Given the description of an element on the screen output the (x, y) to click on. 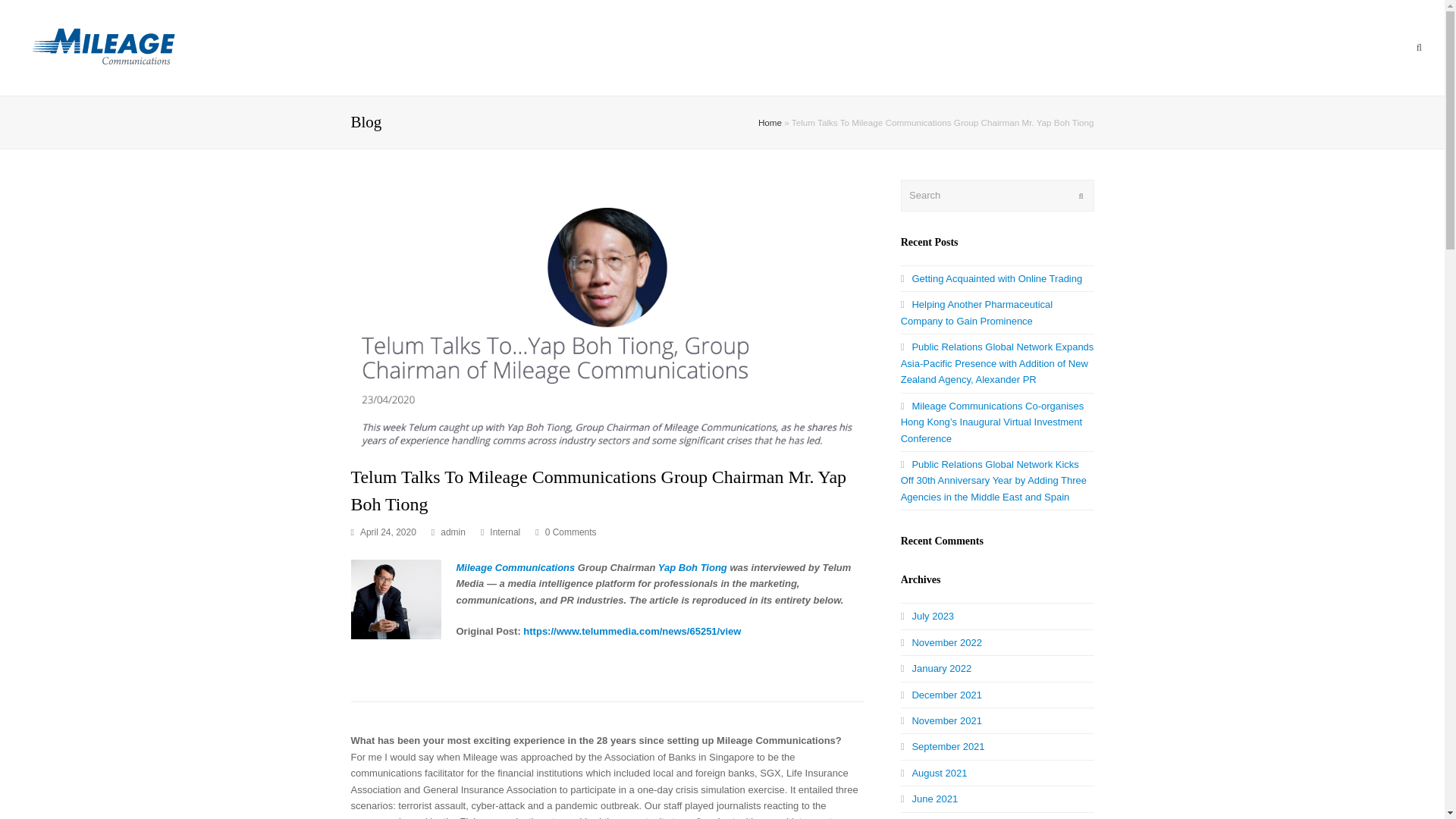
Getting Acquainted with Online Trading (992, 278)
Posts by admin (453, 532)
August 2021 (934, 772)
June 2021 (929, 798)
Mileage Communications Pte Ltd (101, 46)
Internal (504, 532)
Home (769, 122)
0 Comments (570, 532)
Helping Another Pharmaceutical Company to Gain Prominence (976, 311)
July 2023 (927, 615)
admin (453, 532)
September 2021 (943, 746)
December 2021 (941, 695)
January 2022 (936, 668)
